Given the description of an element on the screen output the (x, y) to click on. 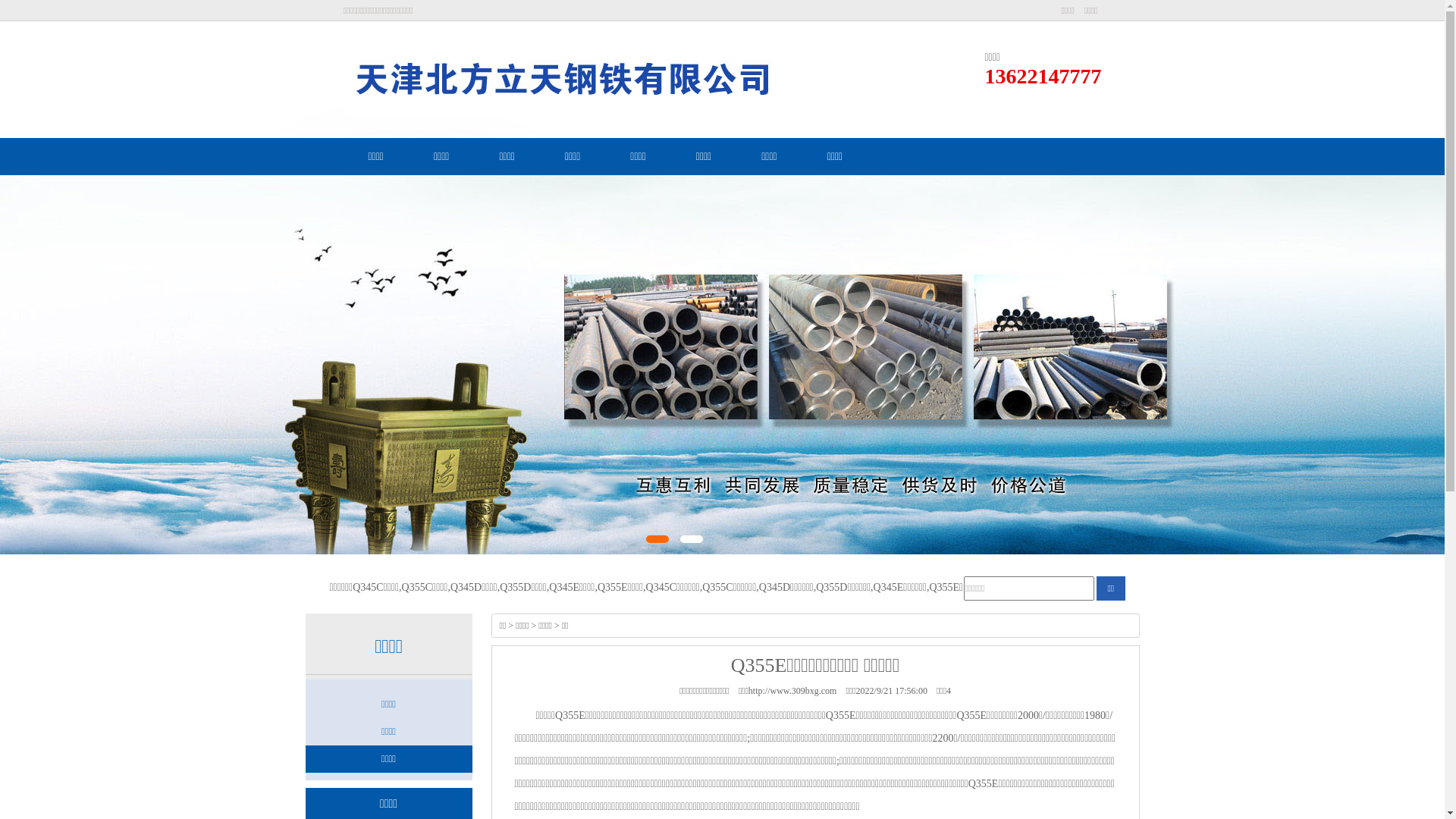
2 Element type: text (691, 538)
1 Element type: text (657, 538)
